Given the description of an element on the screen output the (x, y) to click on. 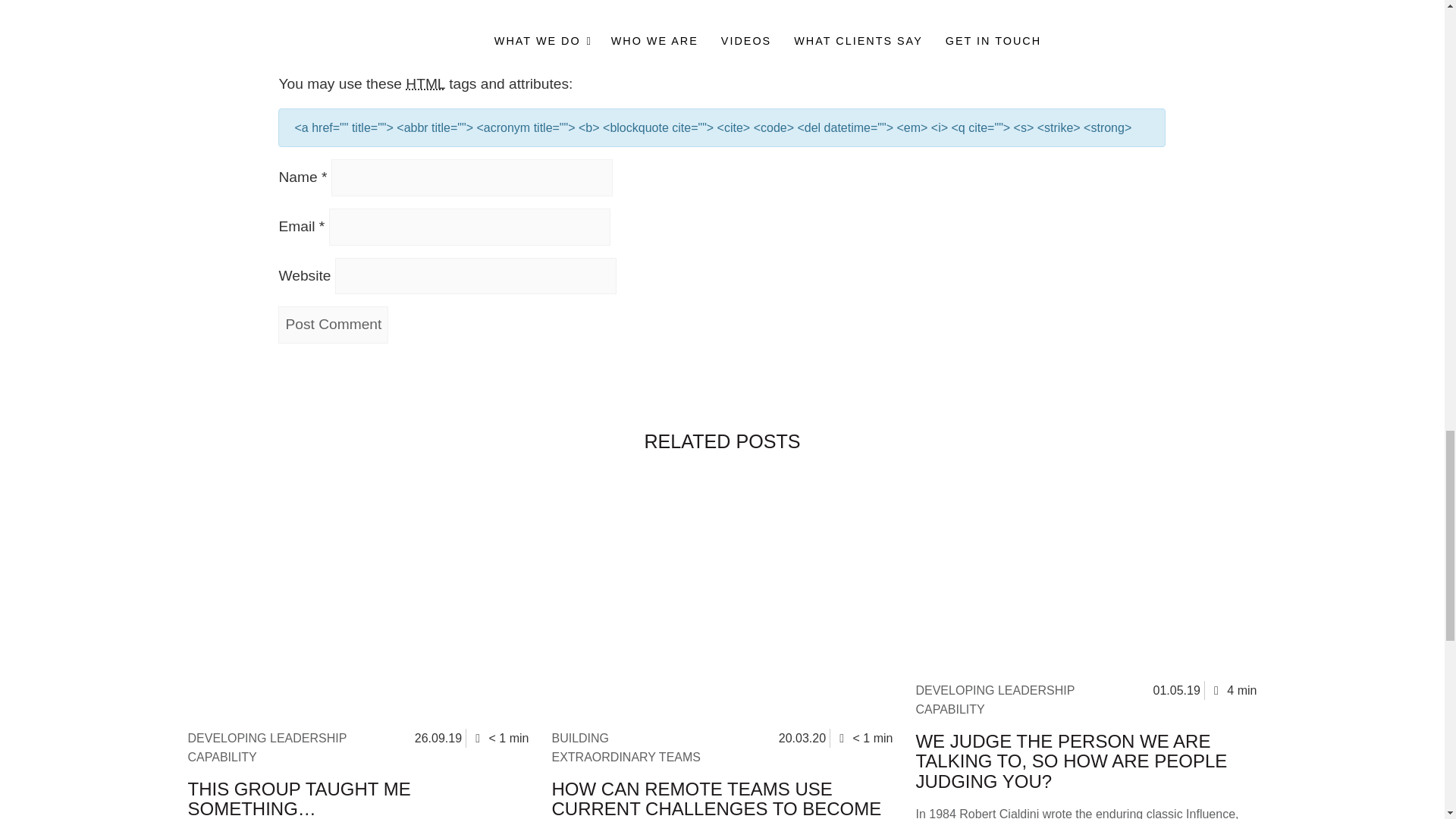
HyperText Markup Language (425, 83)
Post Comment (333, 324)
